Given the description of an element on the screen output the (x, y) to click on. 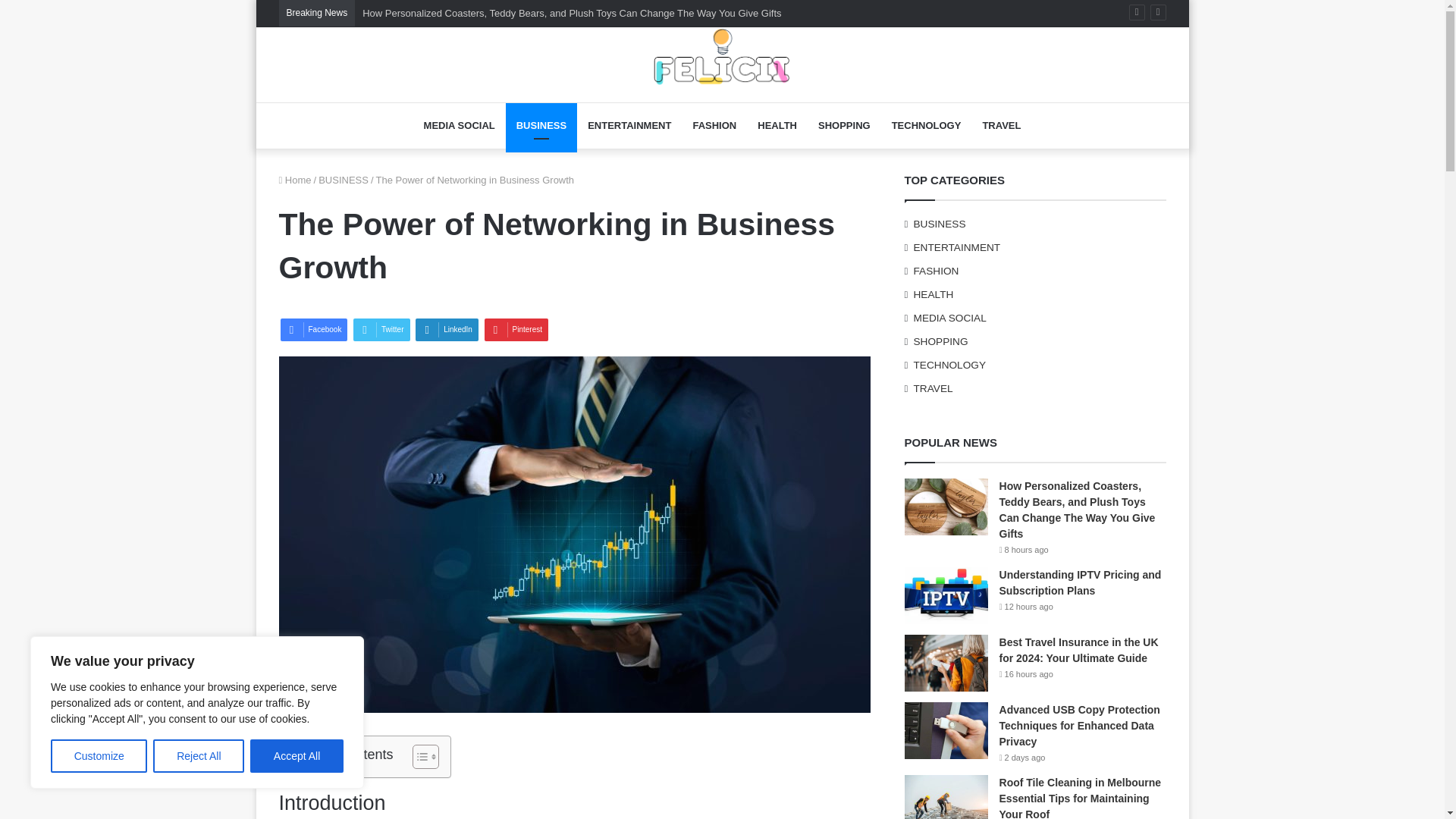
TECHNOLOGY (926, 125)
LinkedIn (446, 329)
BUSINESS (343, 179)
HEALTH (777, 125)
Twitter (381, 329)
Facebook (314, 329)
Accept All (296, 756)
Twitter (381, 329)
Pinterest (516, 329)
